Given the description of an element on the screen output the (x, y) to click on. 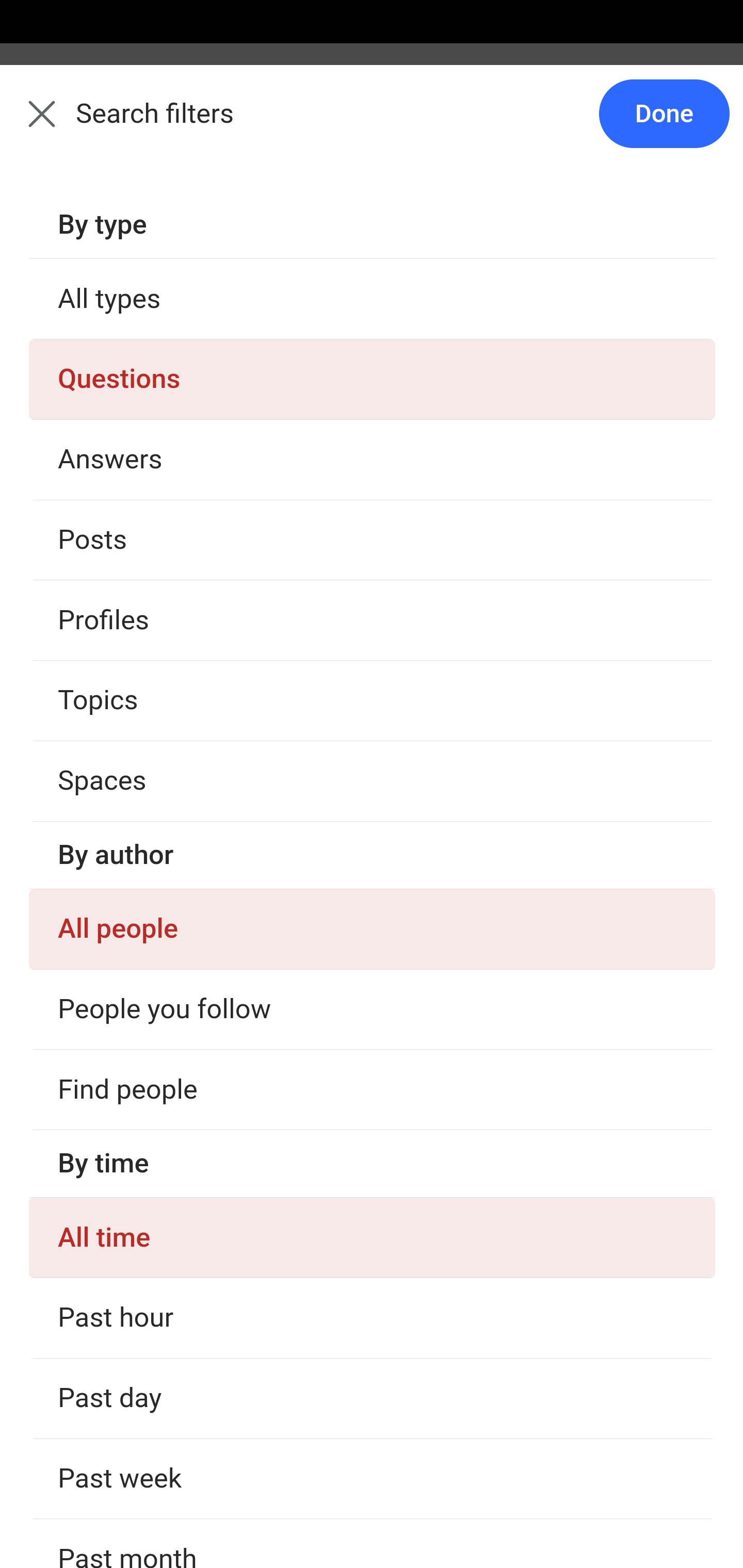
Back Search (371, 125)
Answer (125, 387)
142 answers 142  answers (90, 1244)
Answer (125, 1300)
How do I learn mathematics for machine learning? (372, 1393)
Answer (125, 1499)
